Given the description of an element on the screen output the (x, y) to click on. 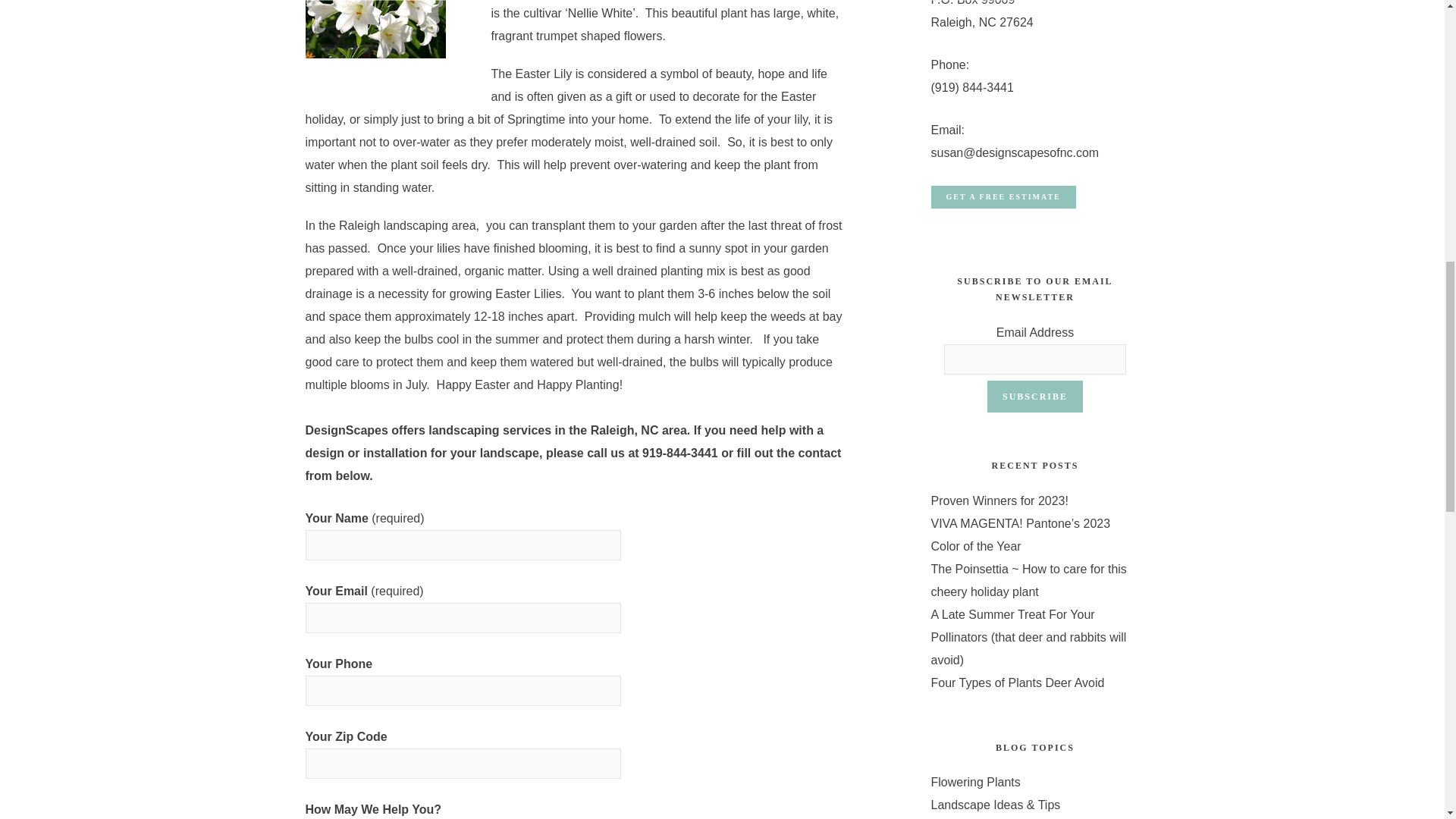
Subscribe (1035, 396)
Four Types of Plants Deer Avoid (1018, 682)
Subscribe (1035, 396)
Proven Winners for 2023! (999, 500)
Flowering Plants (975, 781)
GET A FREE ESTIMATE (1003, 196)
